Given the description of an element on the screen output the (x, y) to click on. 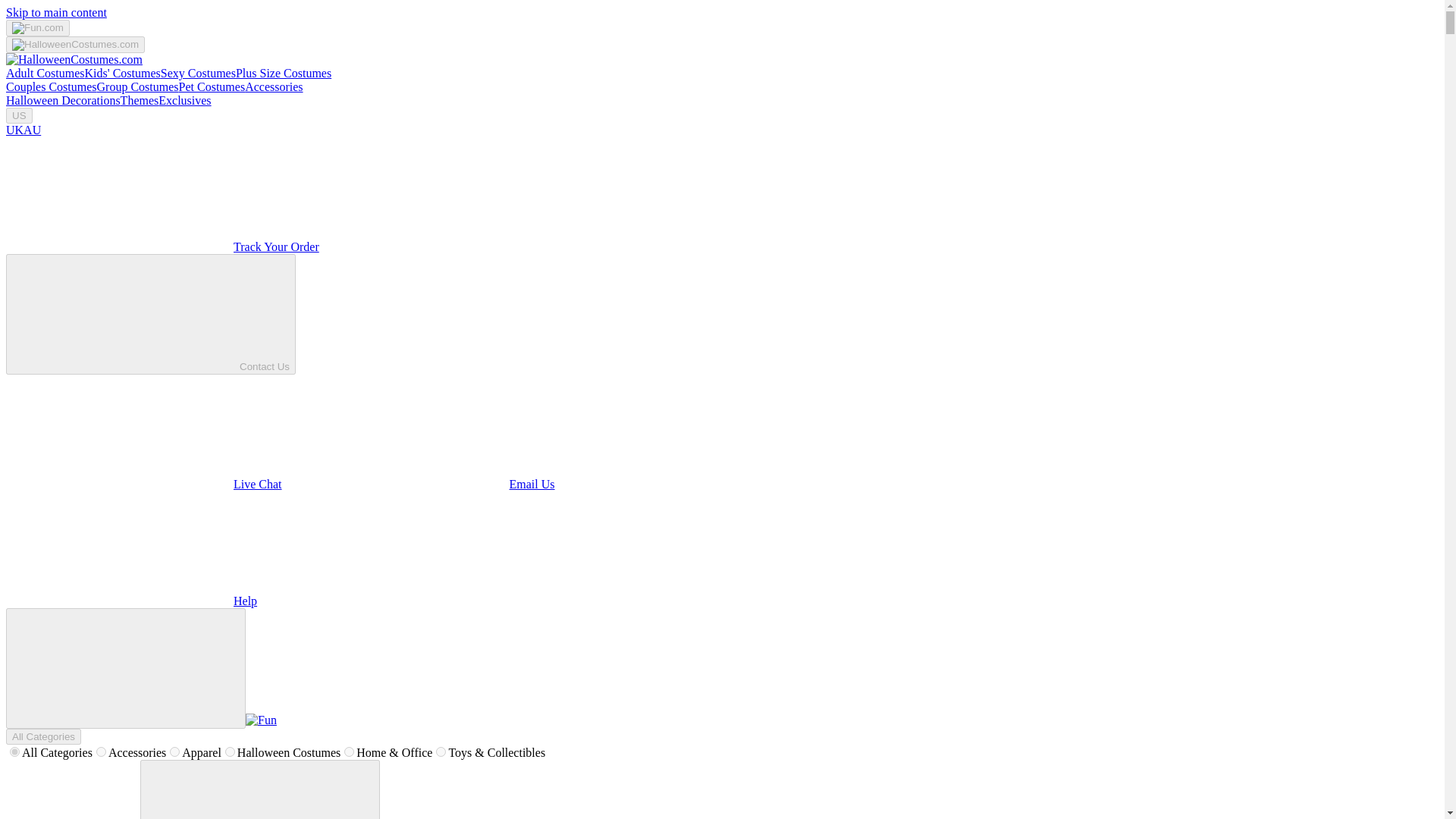
Pet Costumes (212, 86)
Halloween Decorations (62, 100)
1 (174, 751)
AU (31, 129)
18 (229, 751)
Contact Us (150, 313)
Help (131, 600)
Couples Costumes (51, 86)
103 (440, 751)
15 (101, 751)
